Given the description of an element on the screen output the (x, y) to click on. 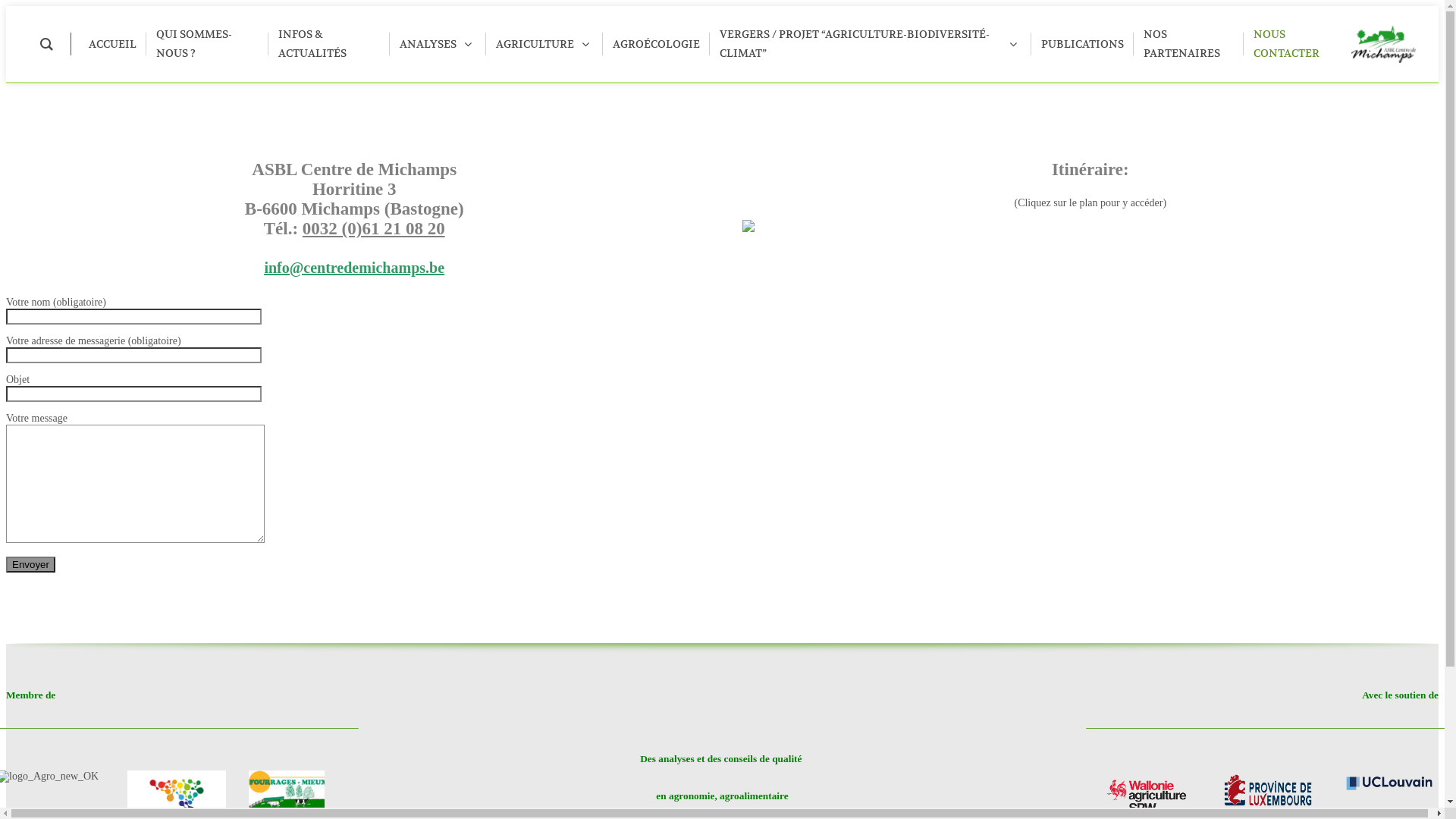
AGRICULTURE Element type: text (544, 43)
ANALYSES Element type: text (437, 43)
0032 (0)61 21 08 20 Element type: text (373, 228)
FM_Bonne_qualite_mod Element type: hover (286, 789)
QUI SOMMES-NOUS ? Element type: text (207, 43)
NOS PARTENAIRES Element type: text (1188, 43)
info@centredemichamps.be Element type: text (353, 267)
prov-lux-logo-new Element type: hover (1267, 791)
Envoyer Element type: text (30, 564)
NOUS CONTACTER Element type: text (1297, 43)
PUBLICATIONS Element type: text (1082, 43)
UCLouvain-Logo-transparent Element type: hover (1388, 781)
ACCUEIL Element type: text (112, 43)
